Given the description of an element on the screen output the (x, y) to click on. 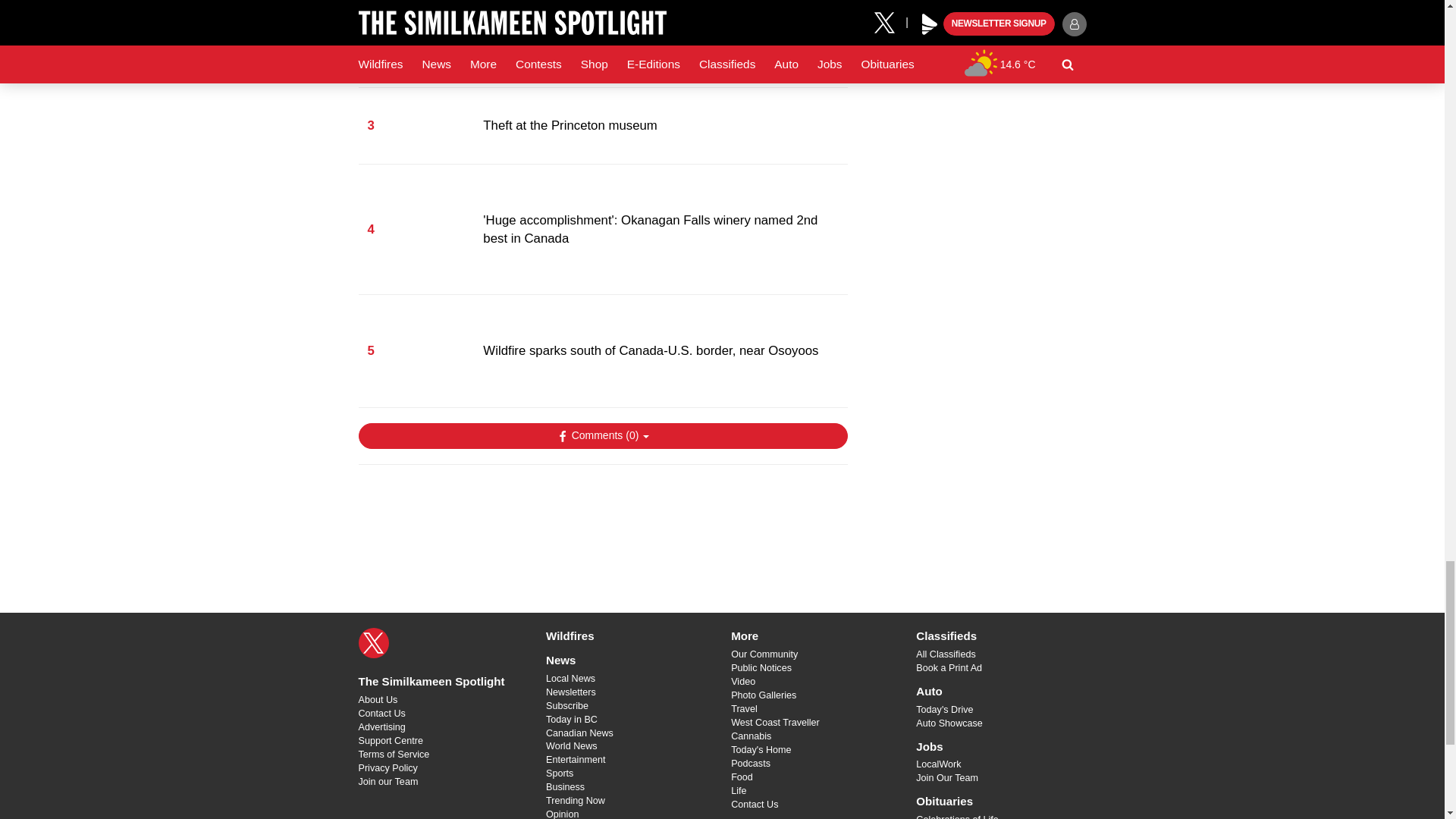
Show Comments (602, 435)
X (373, 643)
